Given the description of an element on the screen output the (x, y) to click on. 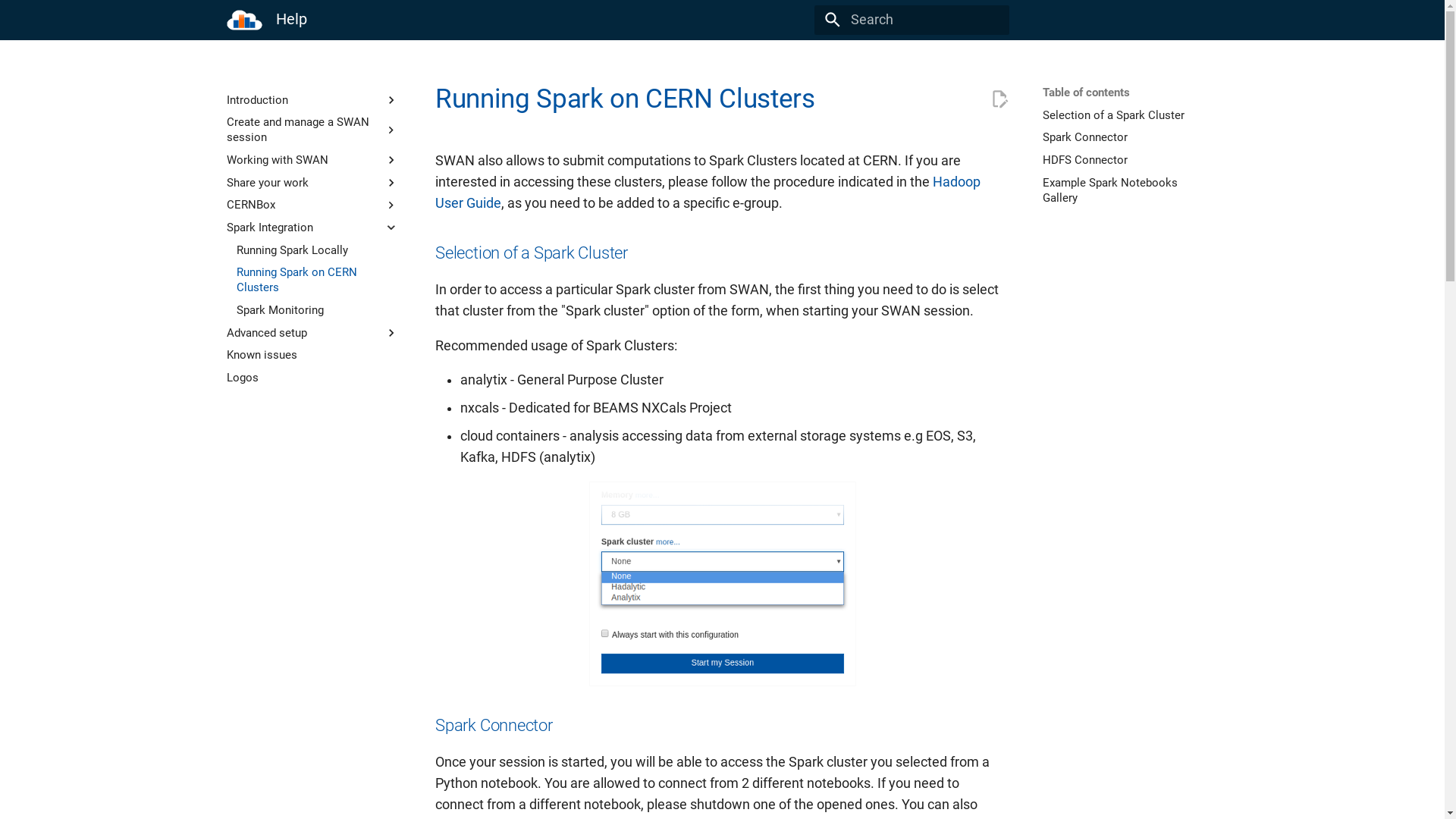
Hadoop User Guide Element type: text (707, 192)
Known issues Element type: text (312, 354)
Edit this page Element type: hover (999, 98)
HDFS Connector Element type: text (1128, 159)
Running Spark Locally Element type: text (317, 249)
Choose Spark Cluster Element type: hover (721, 583)
Example Spark Notebooks Gallery Element type: text (1128, 190)
Spark Connector Element type: text (1128, 136)
Logos Element type: text (312, 377)
Selection of a Spark Cluster Element type: text (1128, 114)
Running Spark on CERN Clusters Element type: text (317, 279)
Help Element type: hover (244, 19)
Spark Monitoring Element type: text (317, 309)
